Given the description of an element on the screen output the (x, y) to click on. 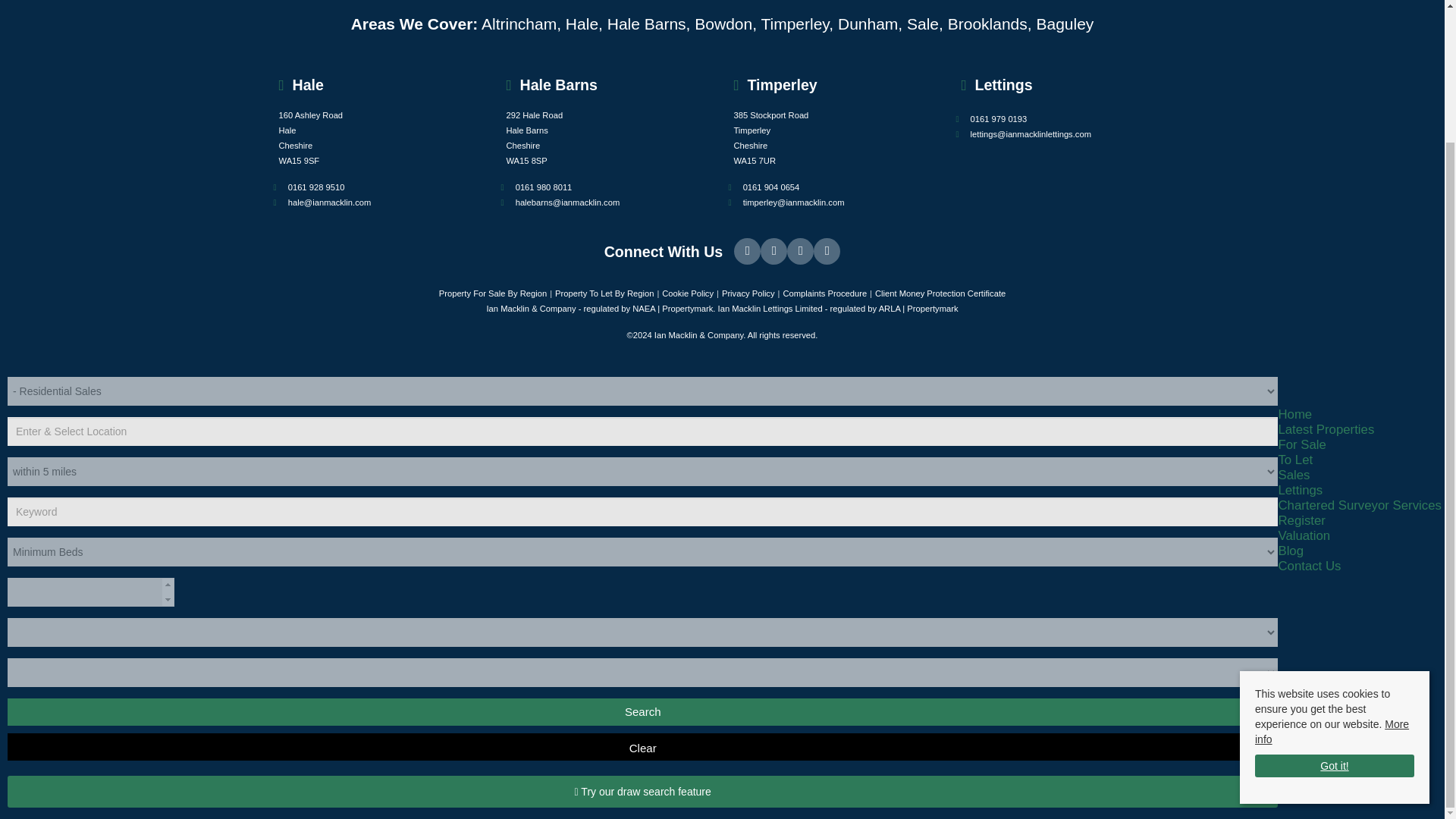
Privacy Policy (748, 293)
Complaints Procedure (823, 293)
Try our draw search feature (642, 791)
More info (1332, 564)
Got it! (1334, 602)
Clear (642, 746)
Cookie Policy (687, 293)
Property For Sale By Region (493, 293)
Client Money Protection Certificate (940, 293)
Search (642, 711)
Property To Let By Region (604, 293)
